Given the description of an element on the screen output the (x, y) to click on. 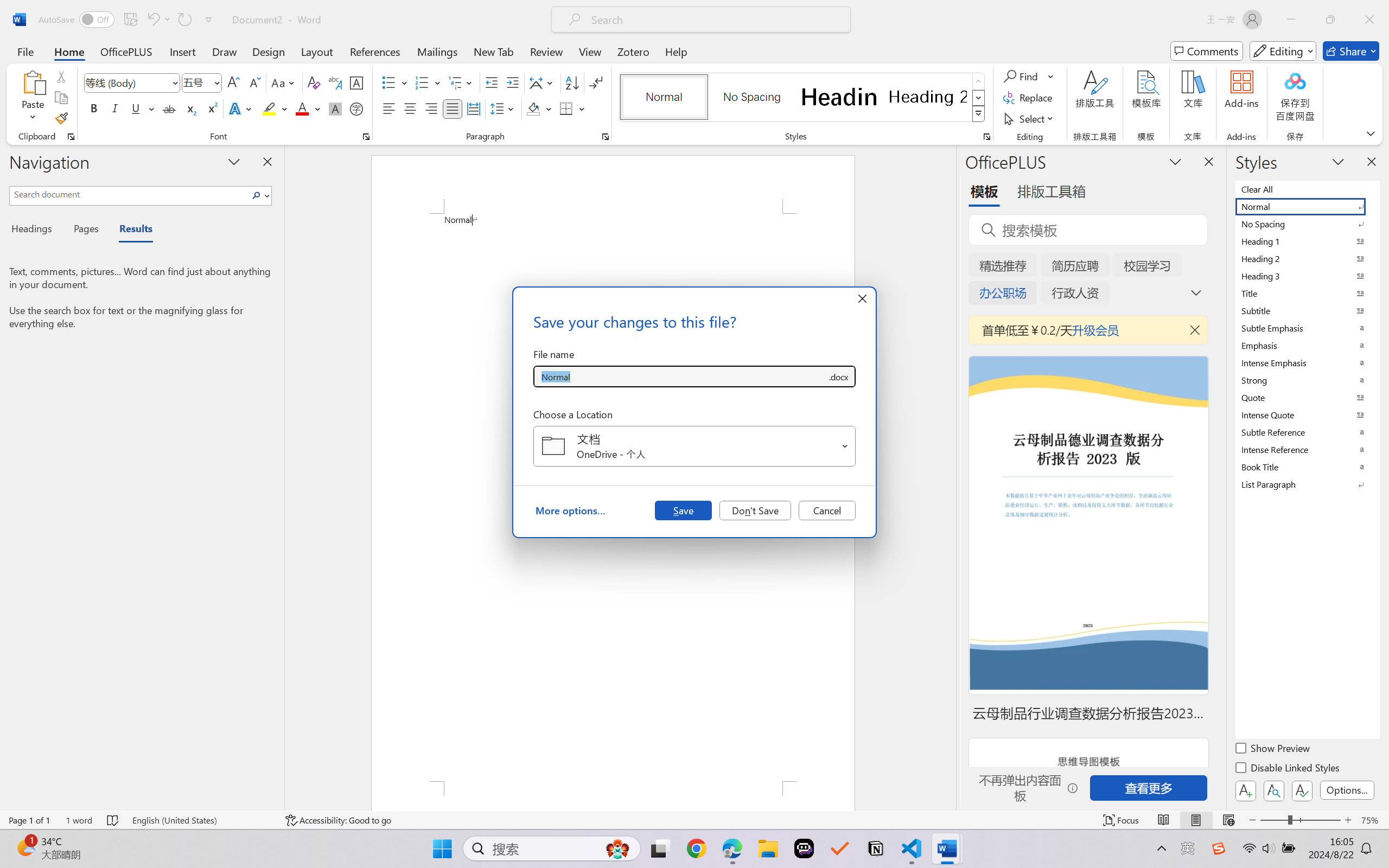
New Tab (493, 51)
Insert (182, 51)
Multilevel List (461, 82)
Shading (539, 108)
Font Size (196, 82)
Review (546, 51)
References (375, 51)
Strong (1306, 379)
Options... (1346, 789)
Quick Access Toolbar (127, 19)
Normal (1306, 206)
Share (1350, 51)
